Given the description of an element on the screen output the (x, y) to click on. 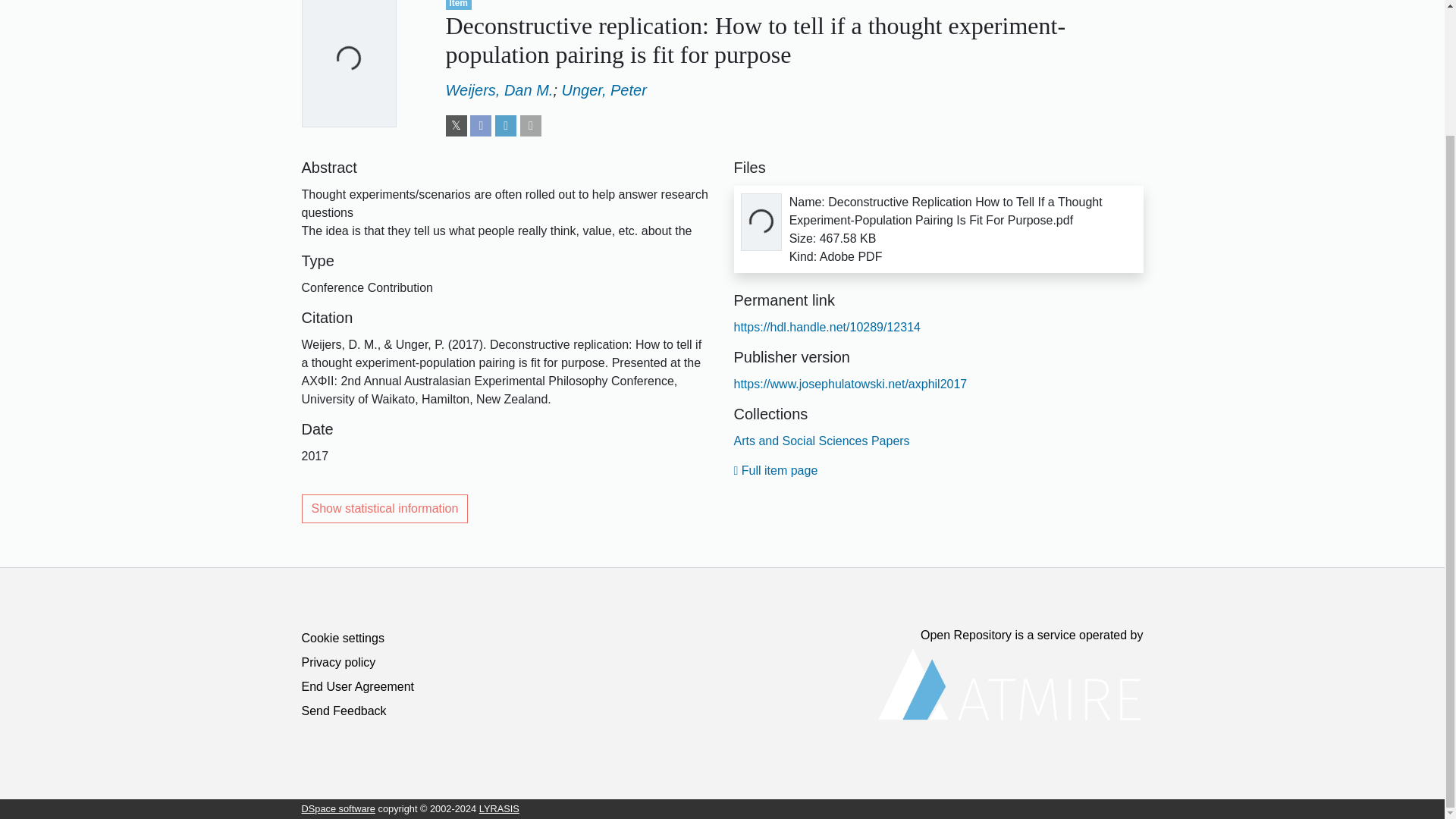
Privacy policy (338, 662)
Show statistical information (384, 508)
Arts and Social Sciences Papers (821, 440)
Weijers, Dan M. (499, 89)
Full item page (775, 470)
Cookie settings (342, 637)
Unger, Peter (604, 89)
